Given the description of an element on the screen output the (x, y) to click on. 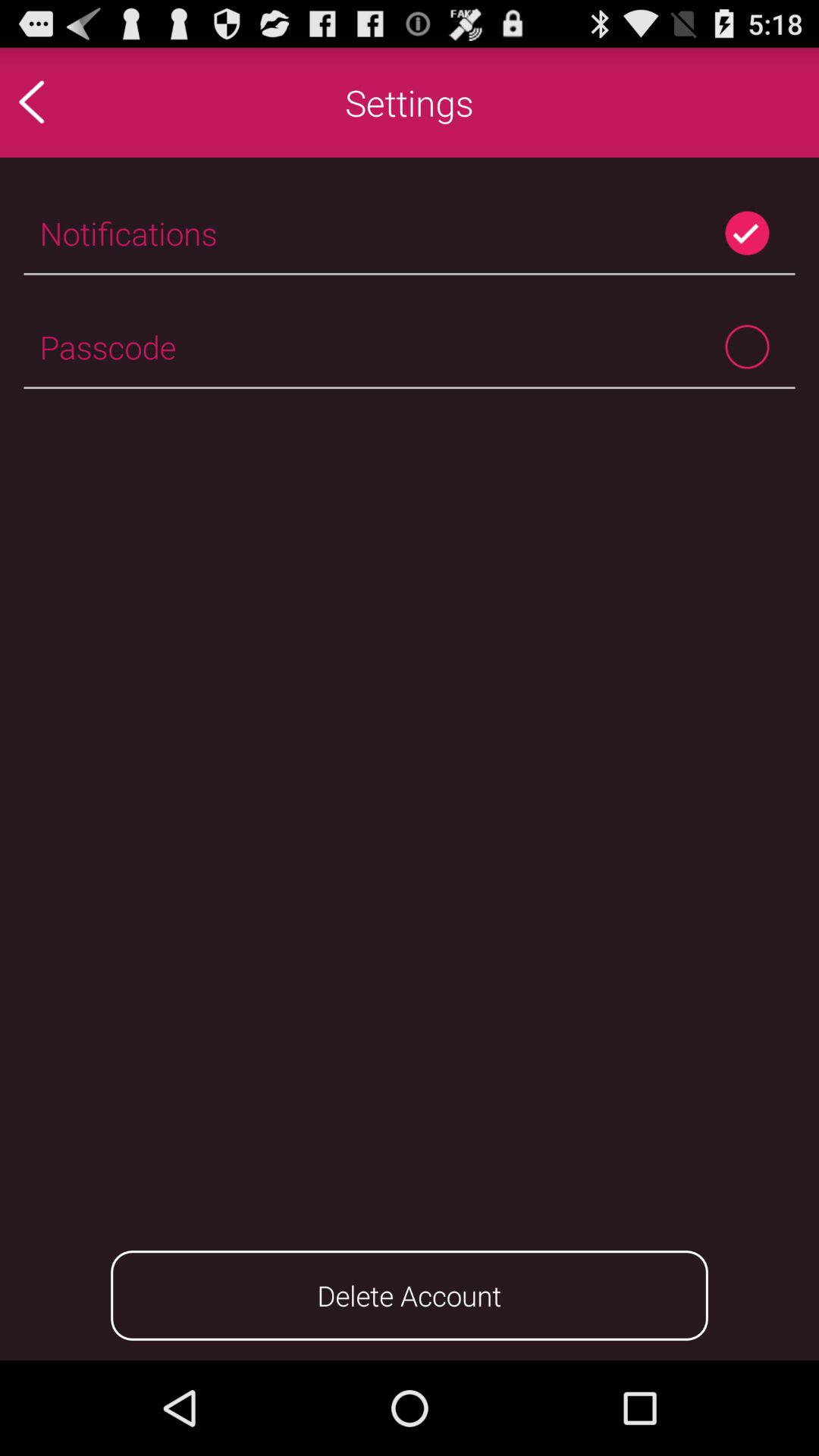
tap app next to the settings app (63, 102)
